Given the description of an element on the screen output the (x, y) to click on. 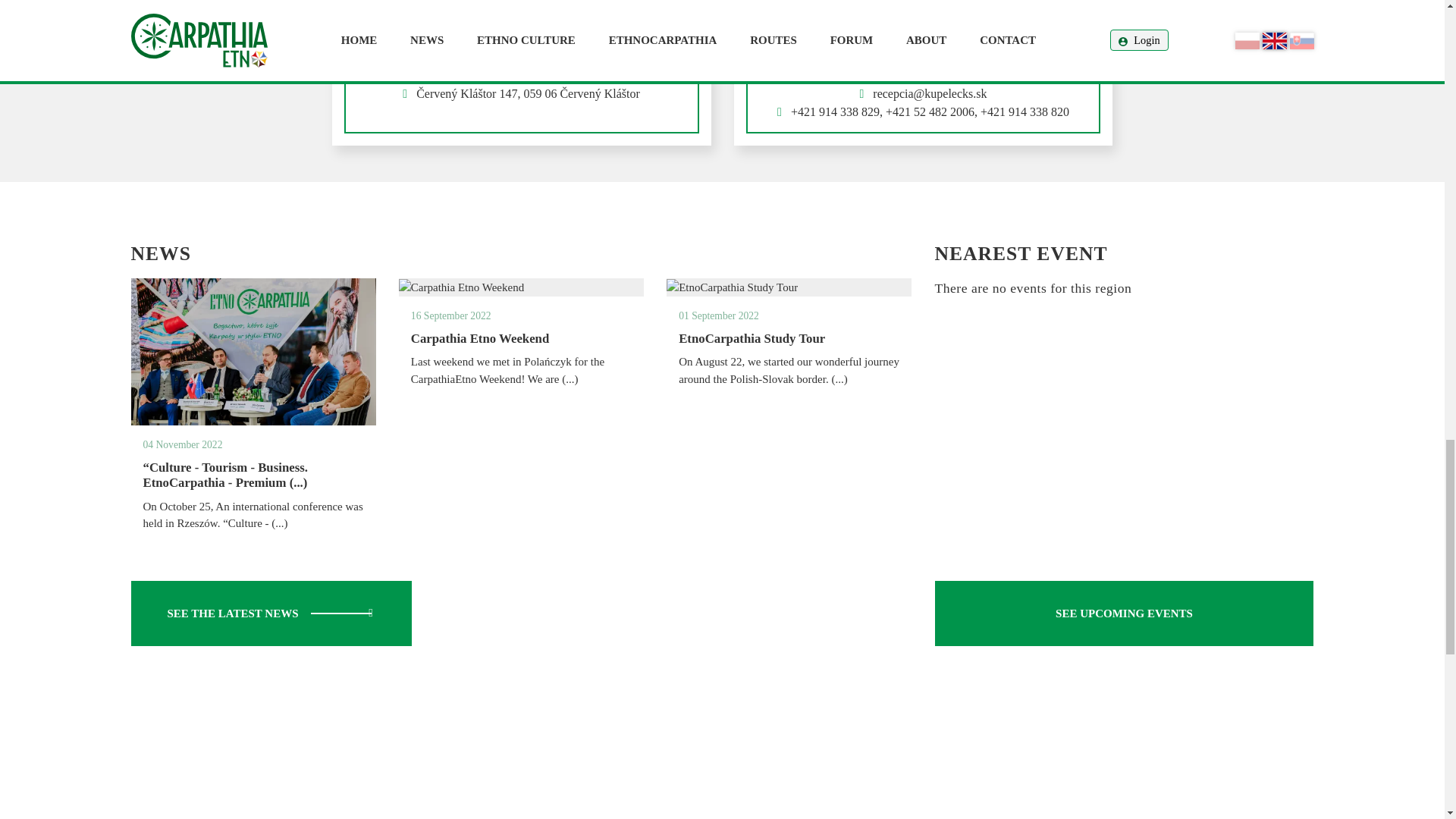
Carpathia Etno Weekend (461, 286)
EtnoCarpathia Study Tour (718, 315)
Carpathia Etno Weekend (451, 315)
Carpathia Etno Weekend (479, 338)
Carpathia Etno Weekend (507, 369)
EtnoCarpathia Study Tour (731, 286)
